Given the description of an element on the screen output the (x, y) to click on. 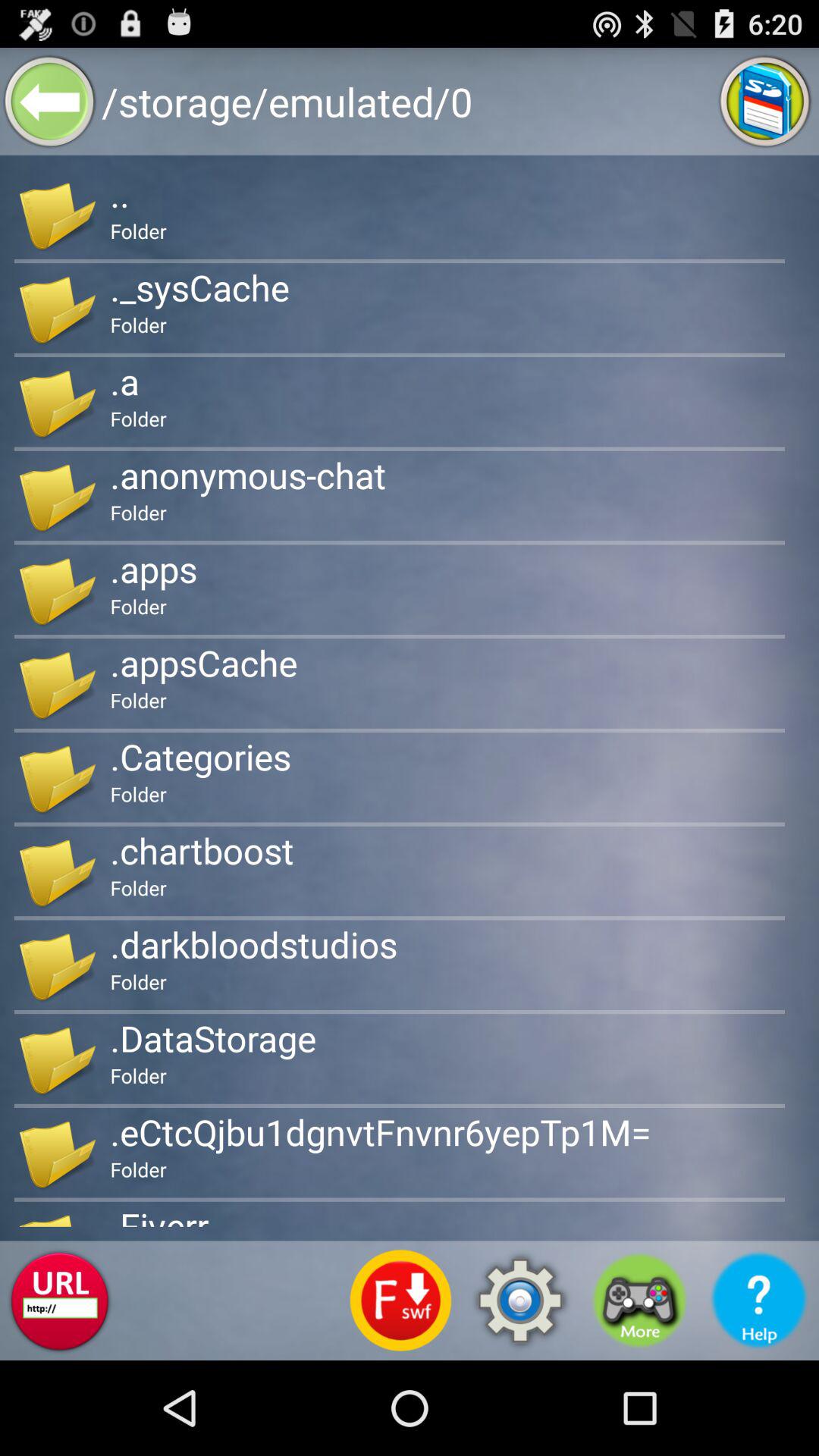
back button (49, 101)
